Given the description of an element on the screen output the (x, y) to click on. 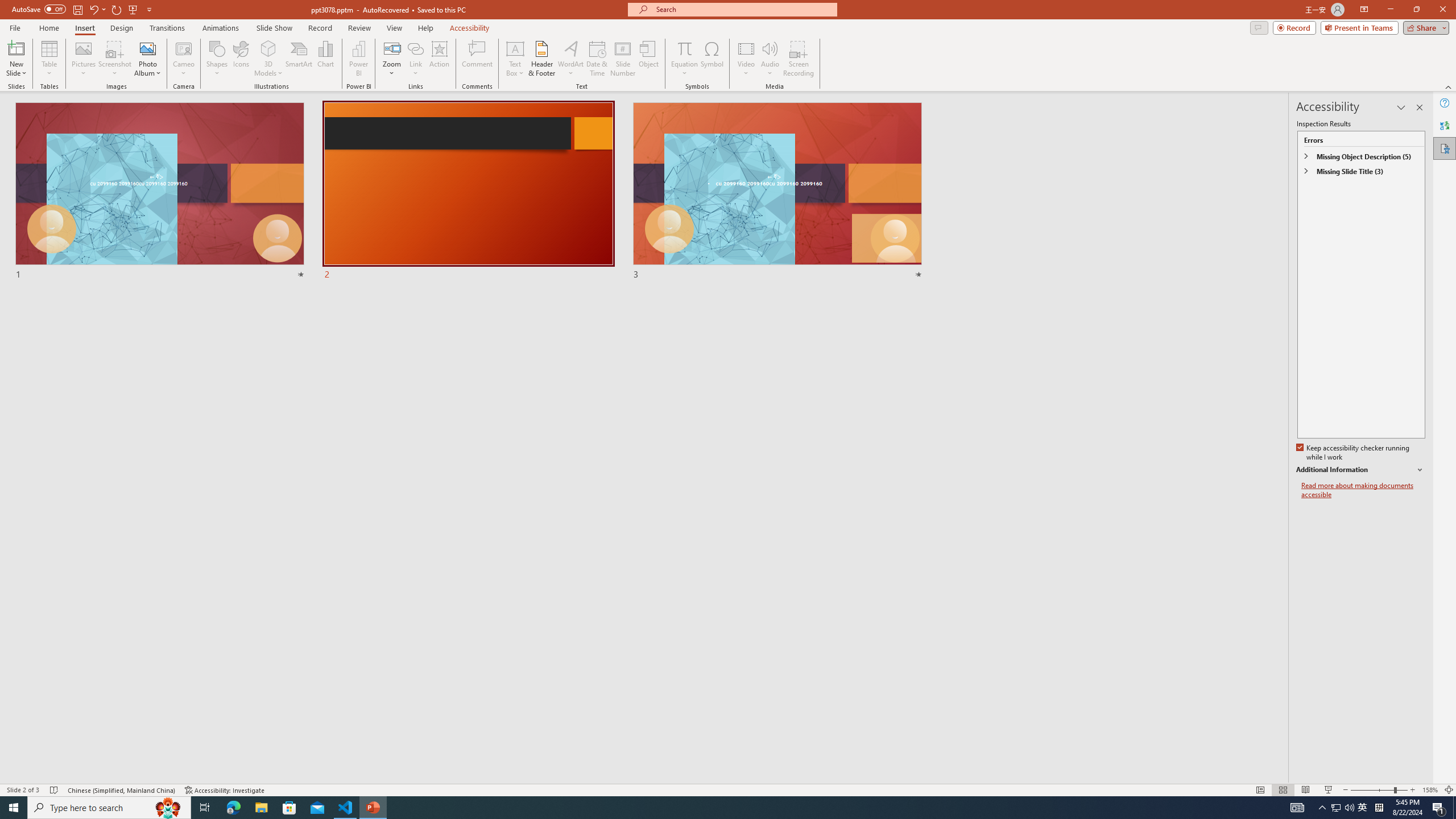
Object... (649, 58)
Date & Time... (596, 58)
Power BI (358, 58)
WordArt (570, 58)
Screenshot (114, 58)
